Given the description of an element on the screen output the (x, y) to click on. 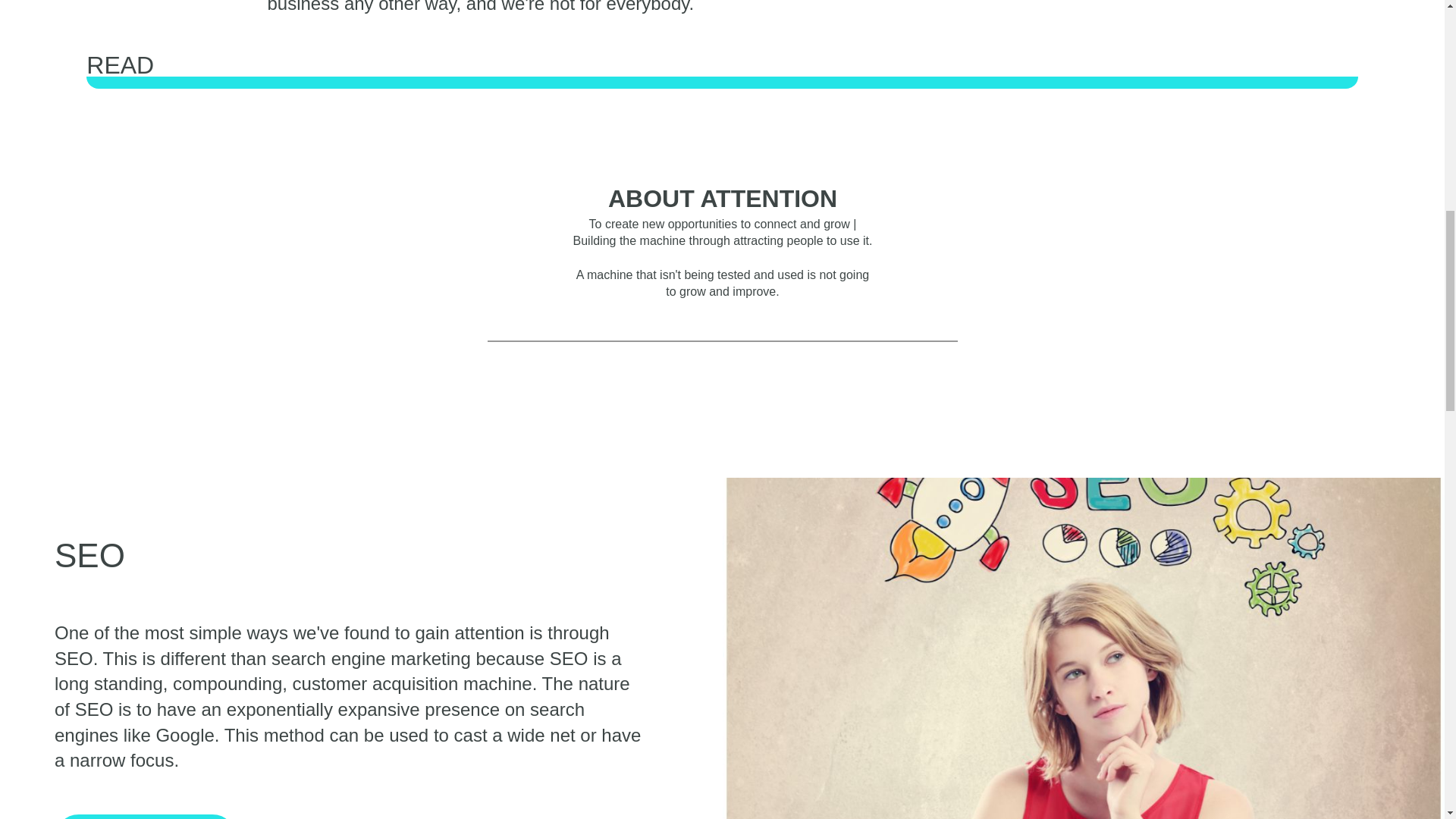
READ (720, 71)
Learn More (145, 816)
